Given the description of an element on the screen output the (x, y) to click on. 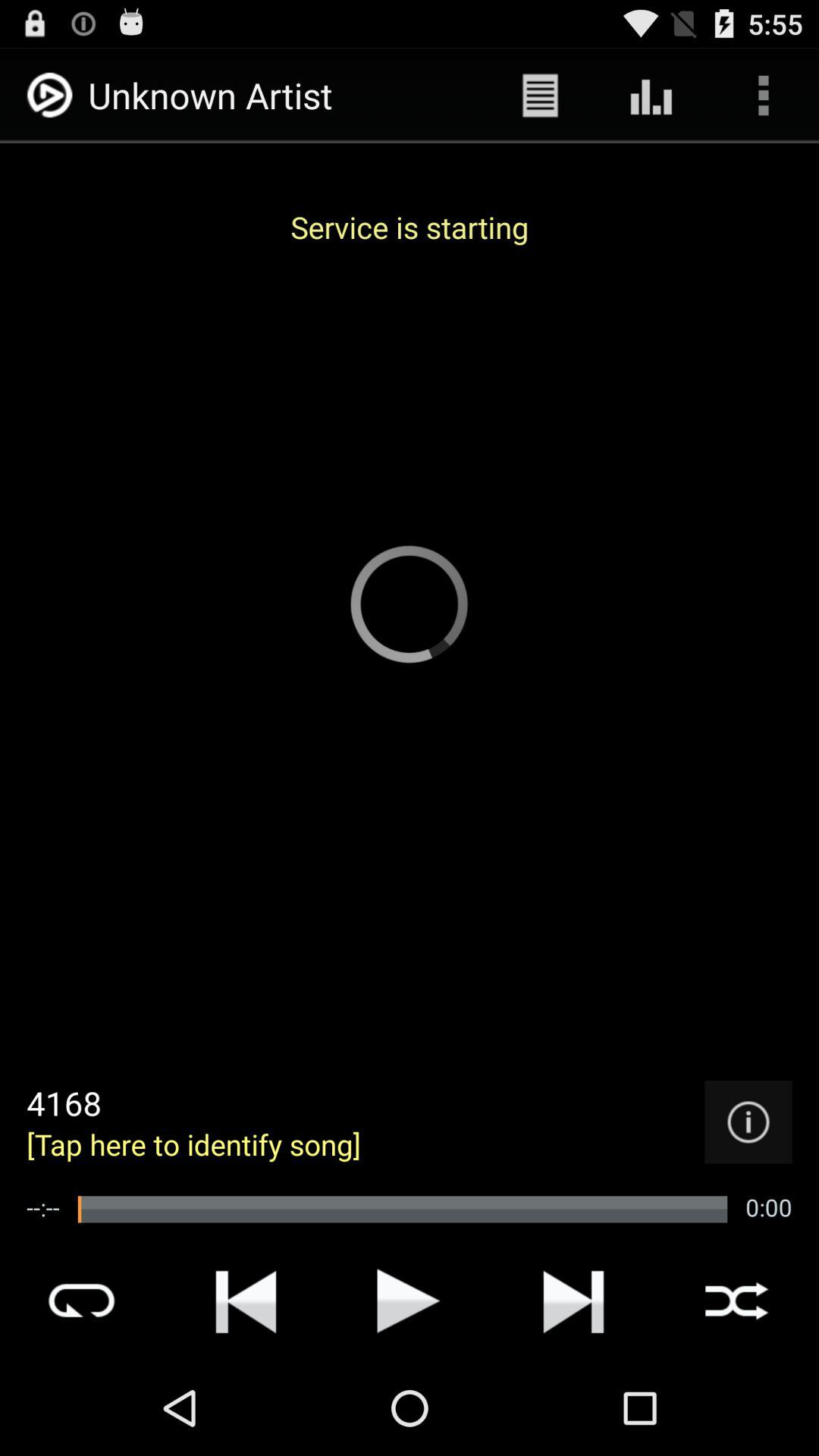
play the first (245, 1300)
